Given the description of an element on the screen output the (x, y) to click on. 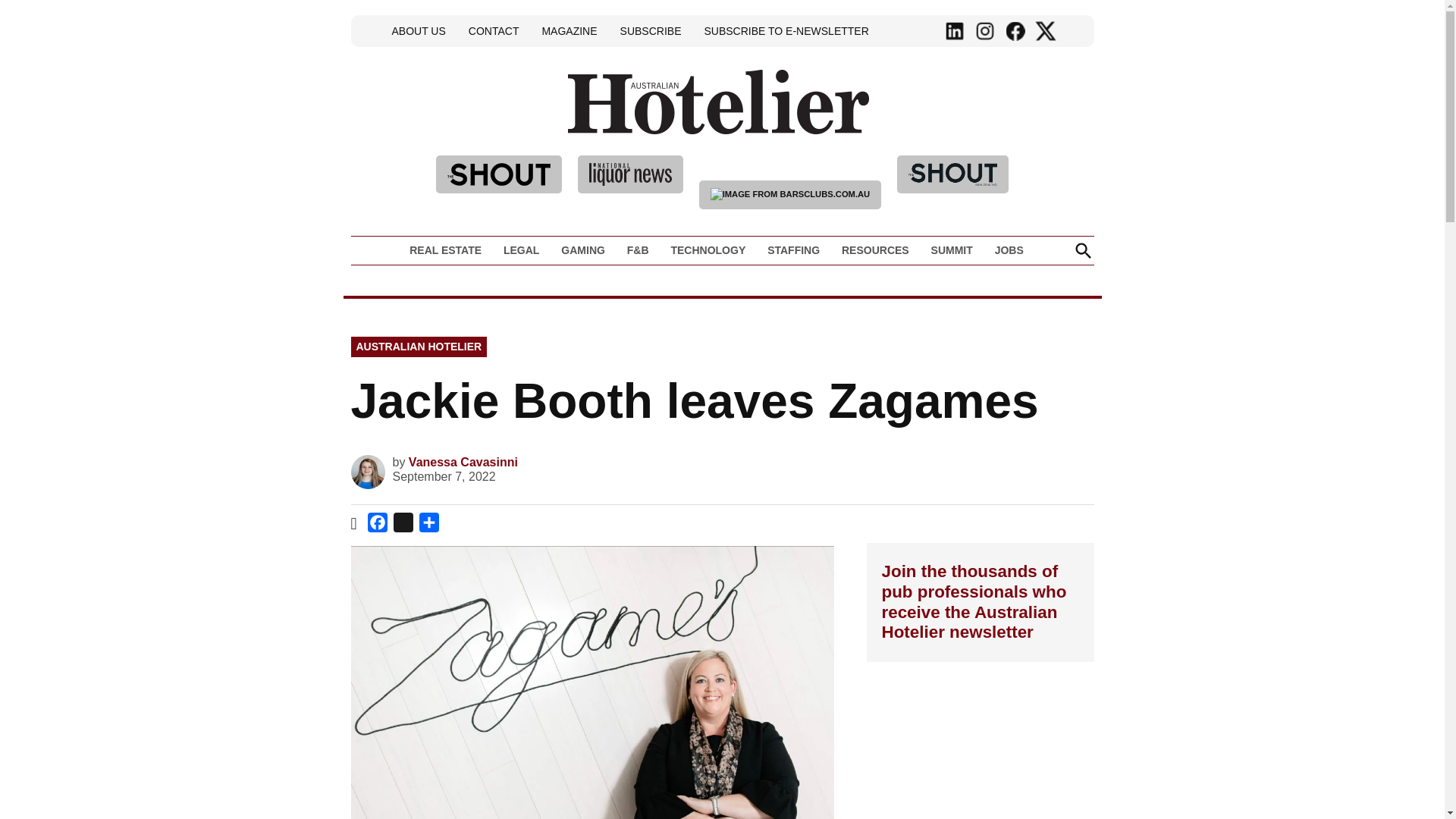
SUBSCRIBE TO E-NEWSLETTER (786, 30)
Twitter (1045, 31)
Australian Hotelier (920, 124)
Facebook (377, 525)
Instagram (984, 31)
Linkedin (954, 31)
X (403, 525)
ABOUT US (418, 30)
Facebook (1015, 31)
CONTACT (493, 30)
